Given the description of an element on the screen output the (x, y) to click on. 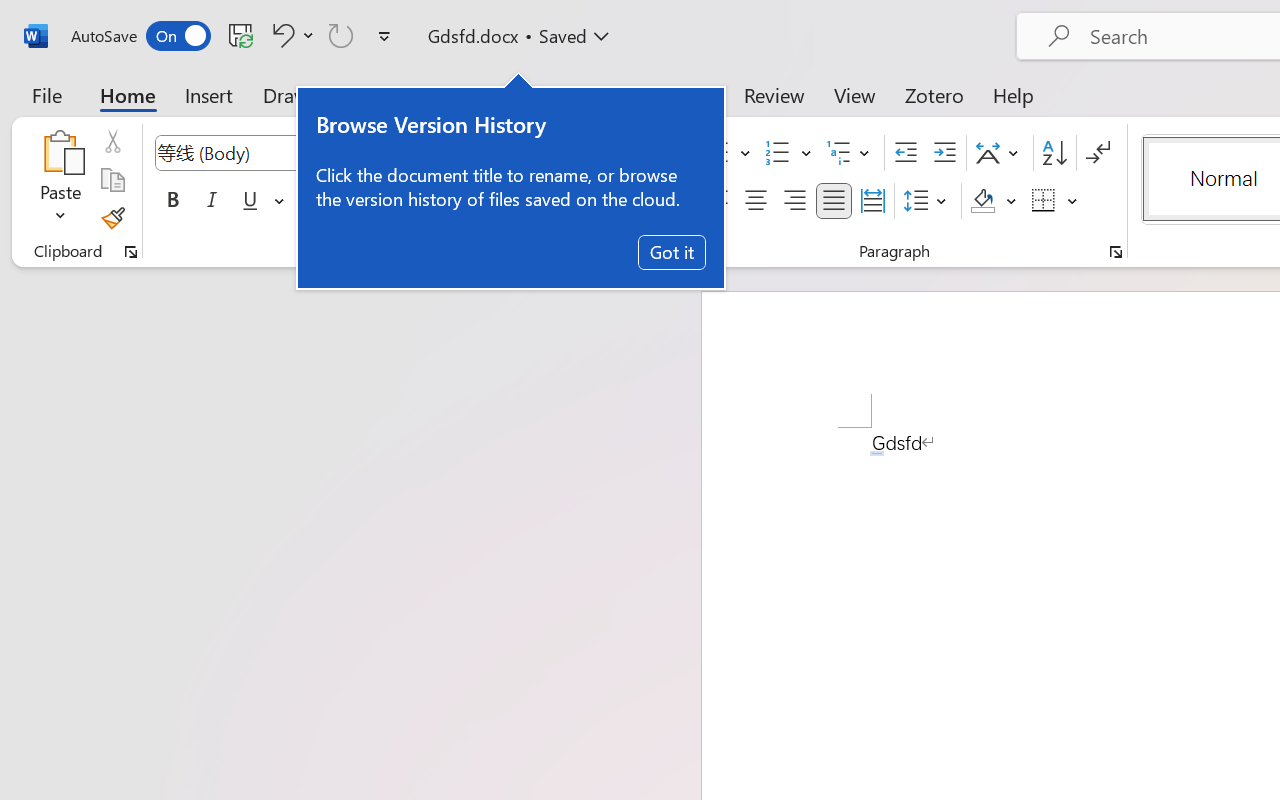
Change Case (524, 153)
Enclose Characters... (656, 201)
Undo AutoCorrect (290, 35)
Show/Hide Editing Marks (1098, 153)
Asian Layout (1000, 153)
Office Clipboard... (131, 252)
Shrink Font (468, 153)
Open (399, 152)
Sort... (1054, 153)
Strikethrough (312, 201)
